Given the description of an element on the screen output the (x, y) to click on. 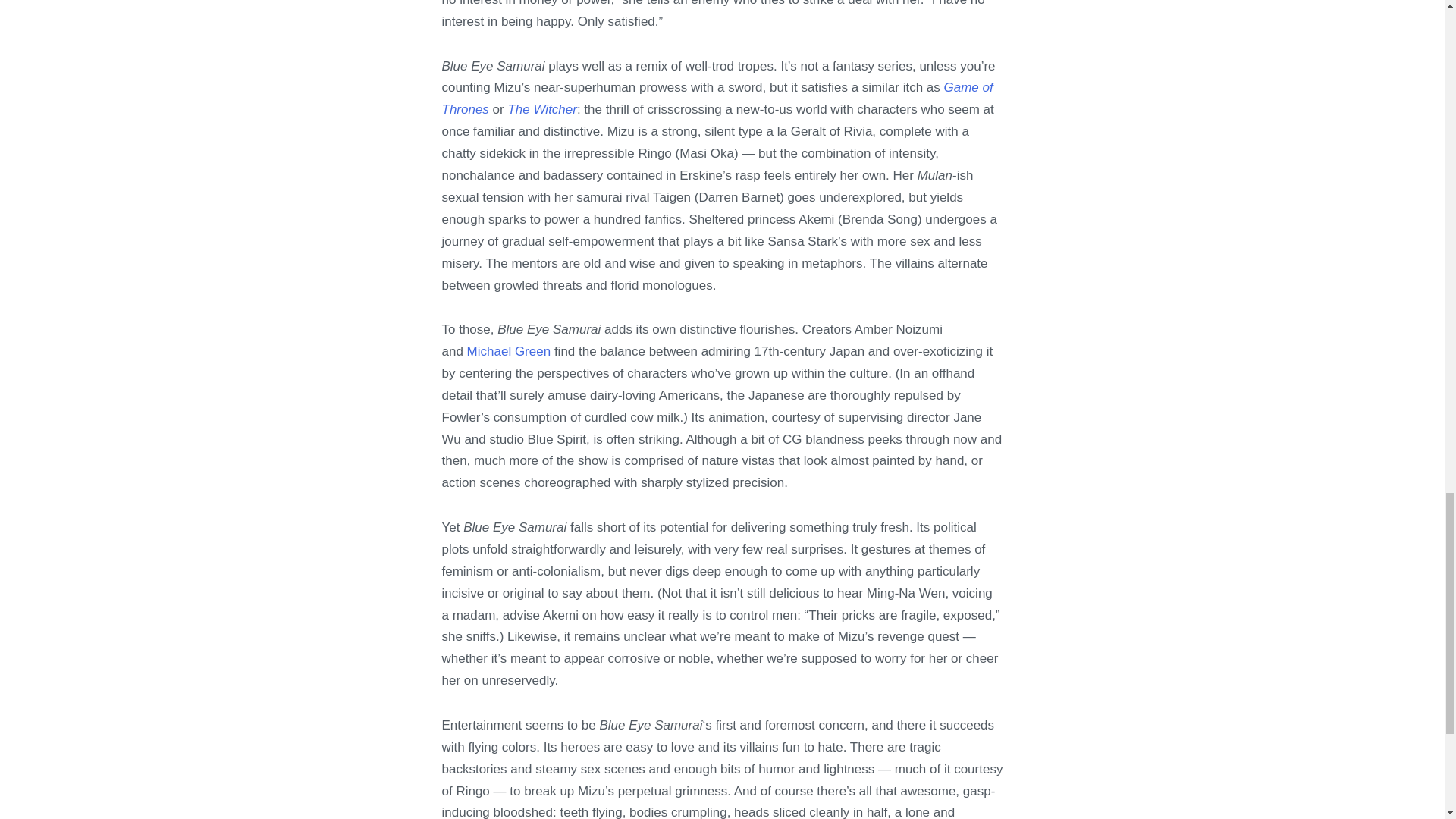
The Witcher (541, 109)
Game of Thrones (716, 98)
Michael Green (509, 350)
